Given the description of an element on the screen output the (x, y) to click on. 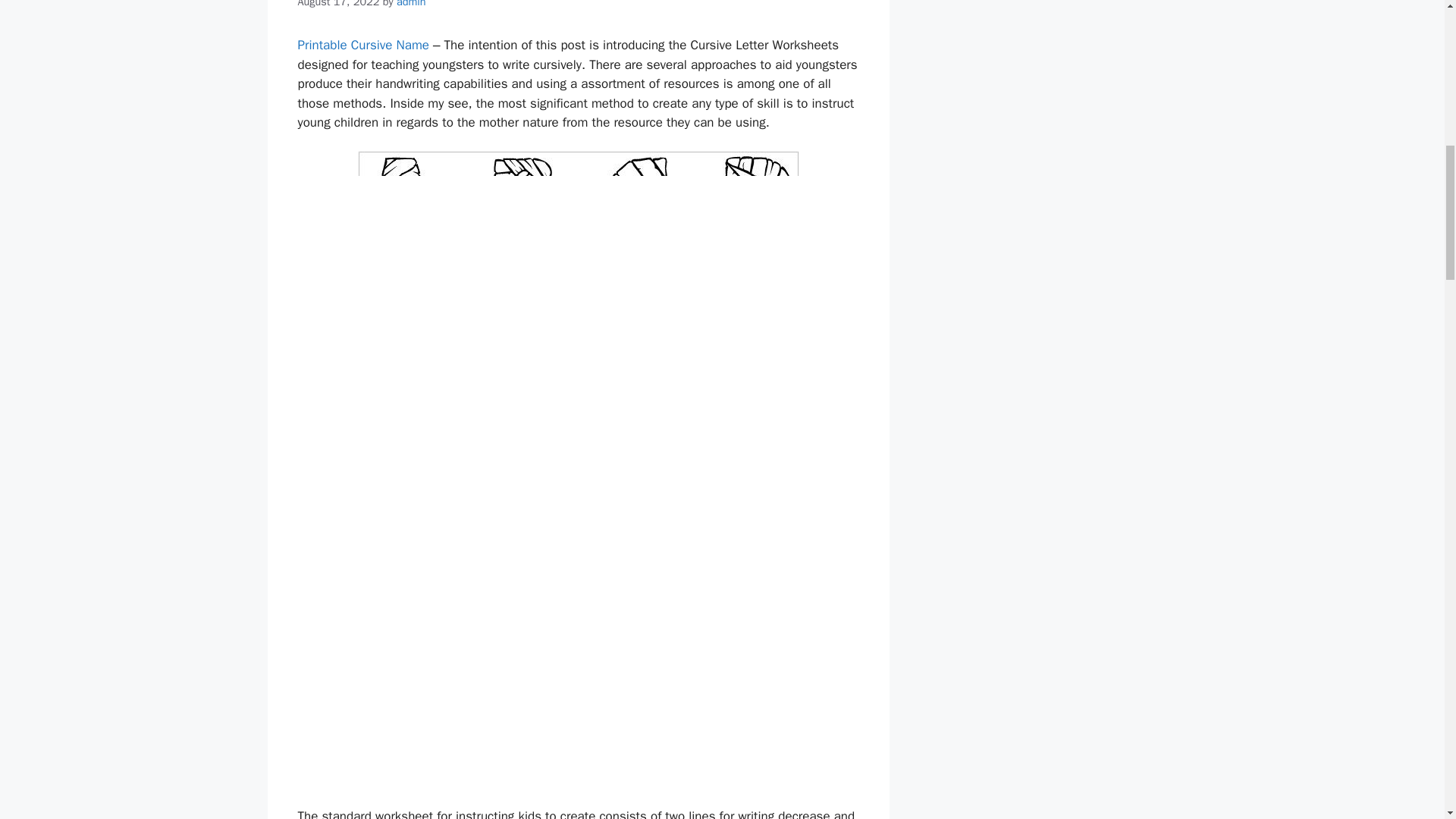
View all posts by admin (411, 4)
admin (411, 4)
Printable Cursive Name (362, 44)
